Given the description of an element on the screen output the (x, y) to click on. 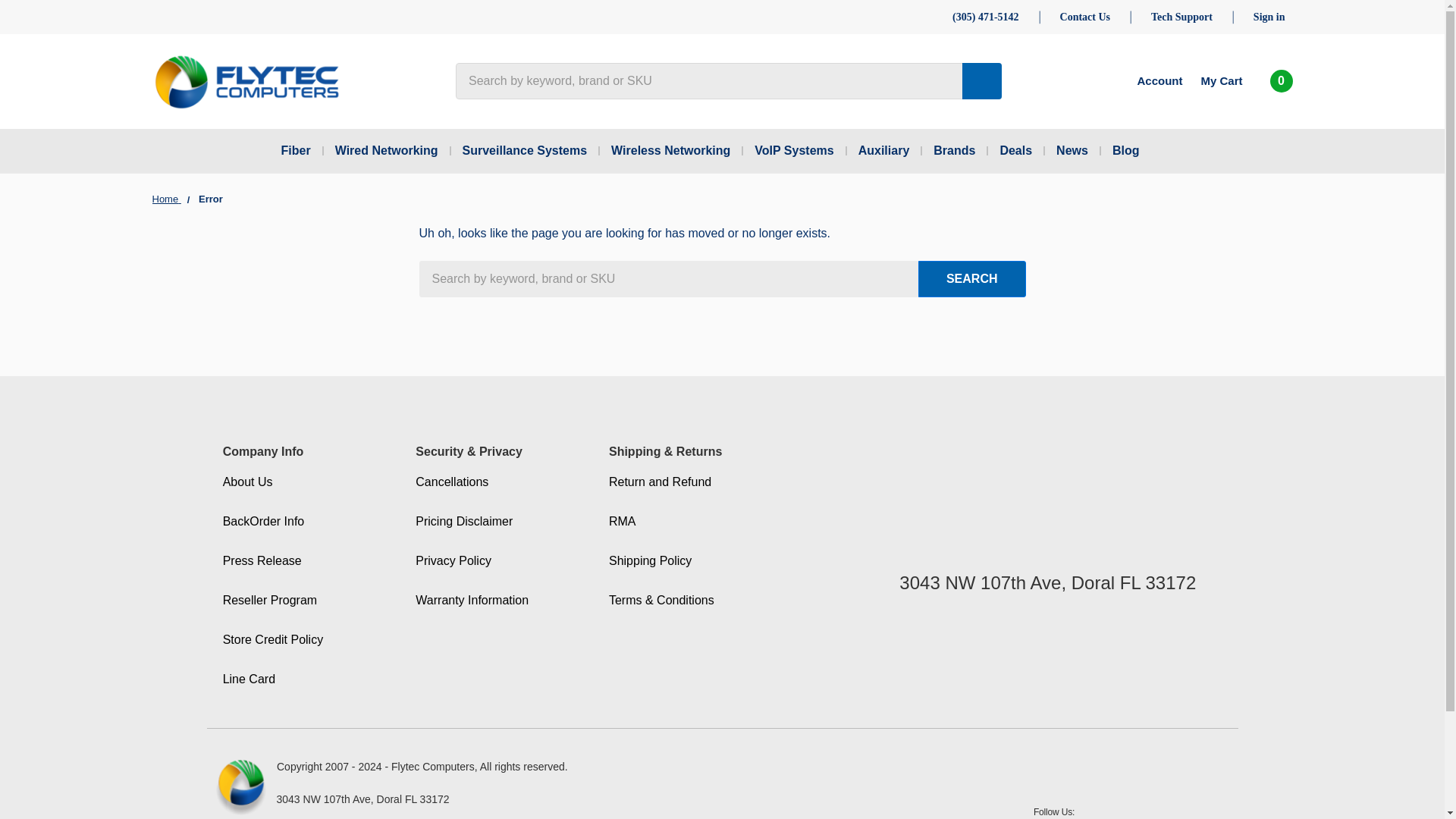
Account (1148, 80)
Search (972, 279)
Fiber (305, 150)
Flytec Computers Inc. (245, 81)
Contact Us (1084, 16)
Tech Support (1181, 16)
Sign in (1269, 16)
